Given the description of an element on the screen output the (x, y) to click on. 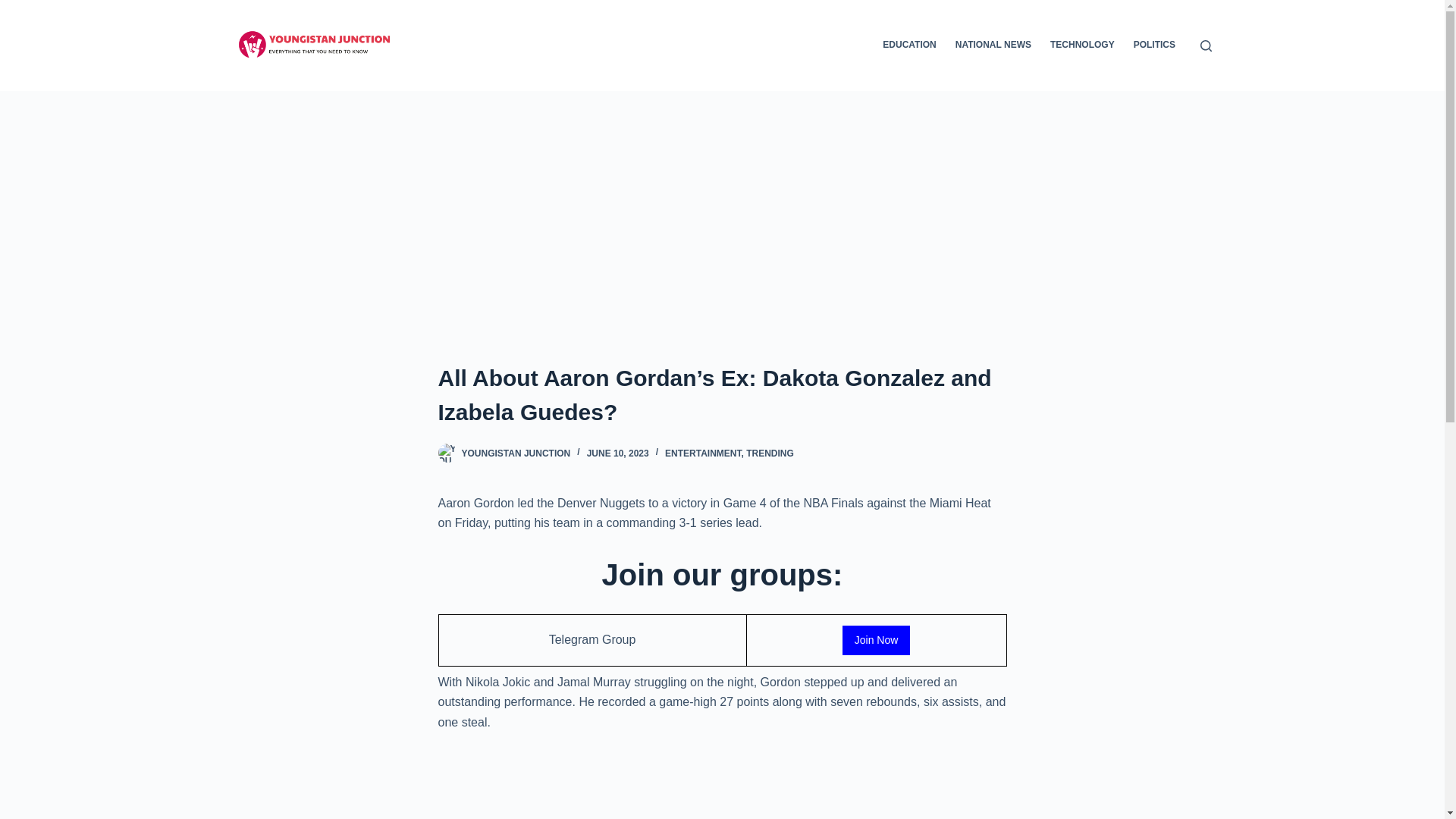
NATIONAL NEWS (992, 45)
ENTERTAINMENT (703, 452)
TECHNOLOGY (1082, 45)
TRENDING (769, 452)
Skip to content (15, 7)
Advertisement (722, 785)
Posts by Youngistan Junction (515, 452)
YOUNGISTAN JUNCTION (515, 452)
Join Now (877, 640)
